Given the description of an element on the screen output the (x, y) to click on. 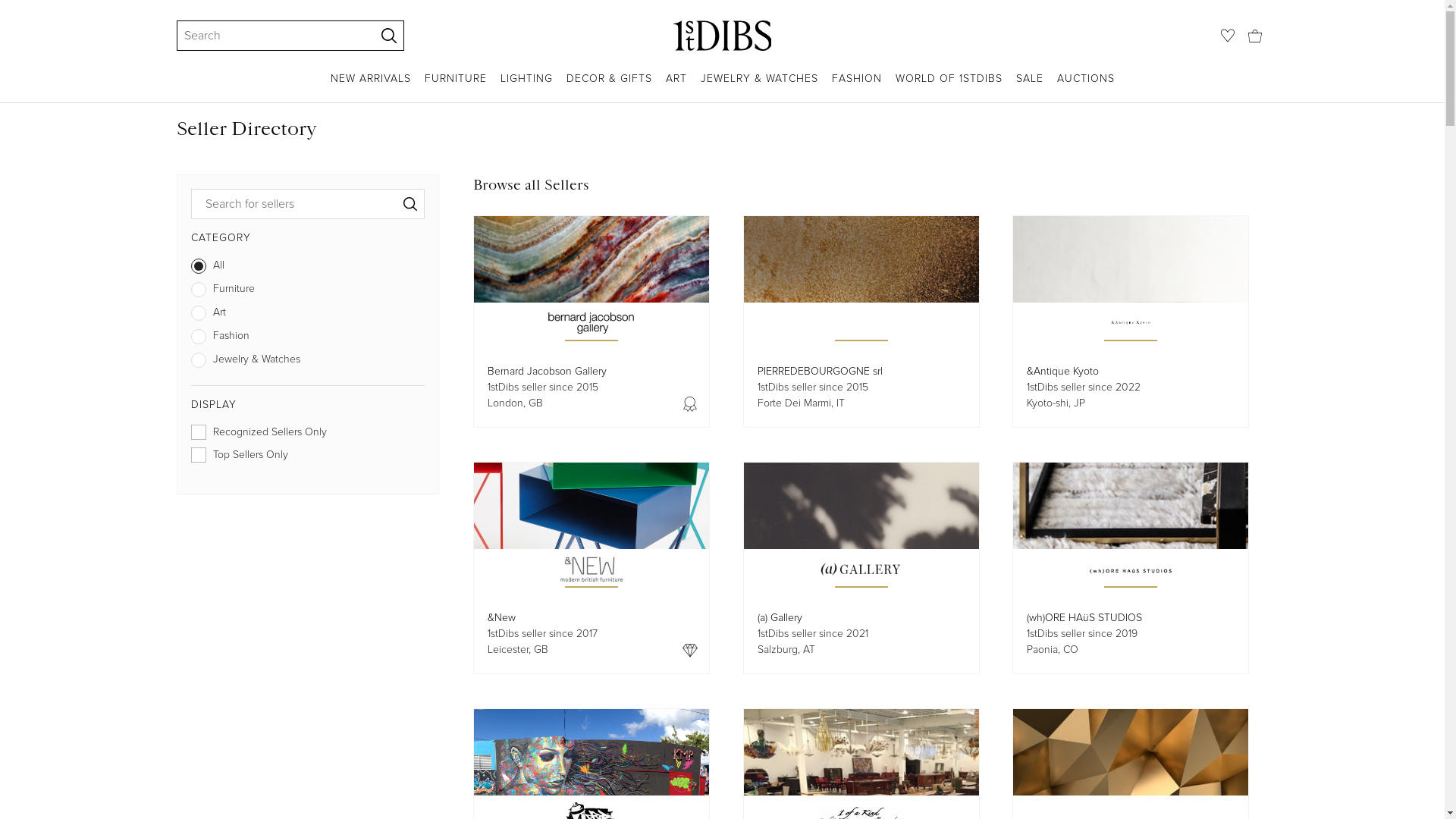
NEW ARRIVALS Element type: text (370, 86)
SALE Element type: text (1029, 86)
&Antique Kyoto Element type: text (1062, 370)
&New Element type: text (501, 617)
PIERREDEBOURGOGNE srl Element type: text (818, 370)
SKIP TO MAIN CONTENT Element type: text (6, 6)
WORLD OF 1STDIBS Element type: text (947, 86)
ART Element type: text (676, 86)
Search Element type: hover (268, 35)
Furniture Element type: text (308, 292)
FASHION Element type: text (856, 86)
FURNITURE Element type: text (455, 86)
Fashion Element type: text (308, 339)
Art Element type: text (308, 315)
(a) Gallery Element type: text (778, 617)
All Element type: text (308, 268)
Recognized Sellers Only Element type: text (308, 434)
JEWELRY & WATCHES Element type: text (759, 86)
Jewelry & Watches Element type: text (308, 362)
DECOR & GIFTS Element type: text (608, 86)
LIGHTING Element type: text (526, 86)
Bernard Jacobson Gallery Element type: text (546, 370)
Top Sellers Only Element type: text (308, 457)
AUCTIONS Element type: text (1085, 86)
